Given the description of an element on the screen output the (x, y) to click on. 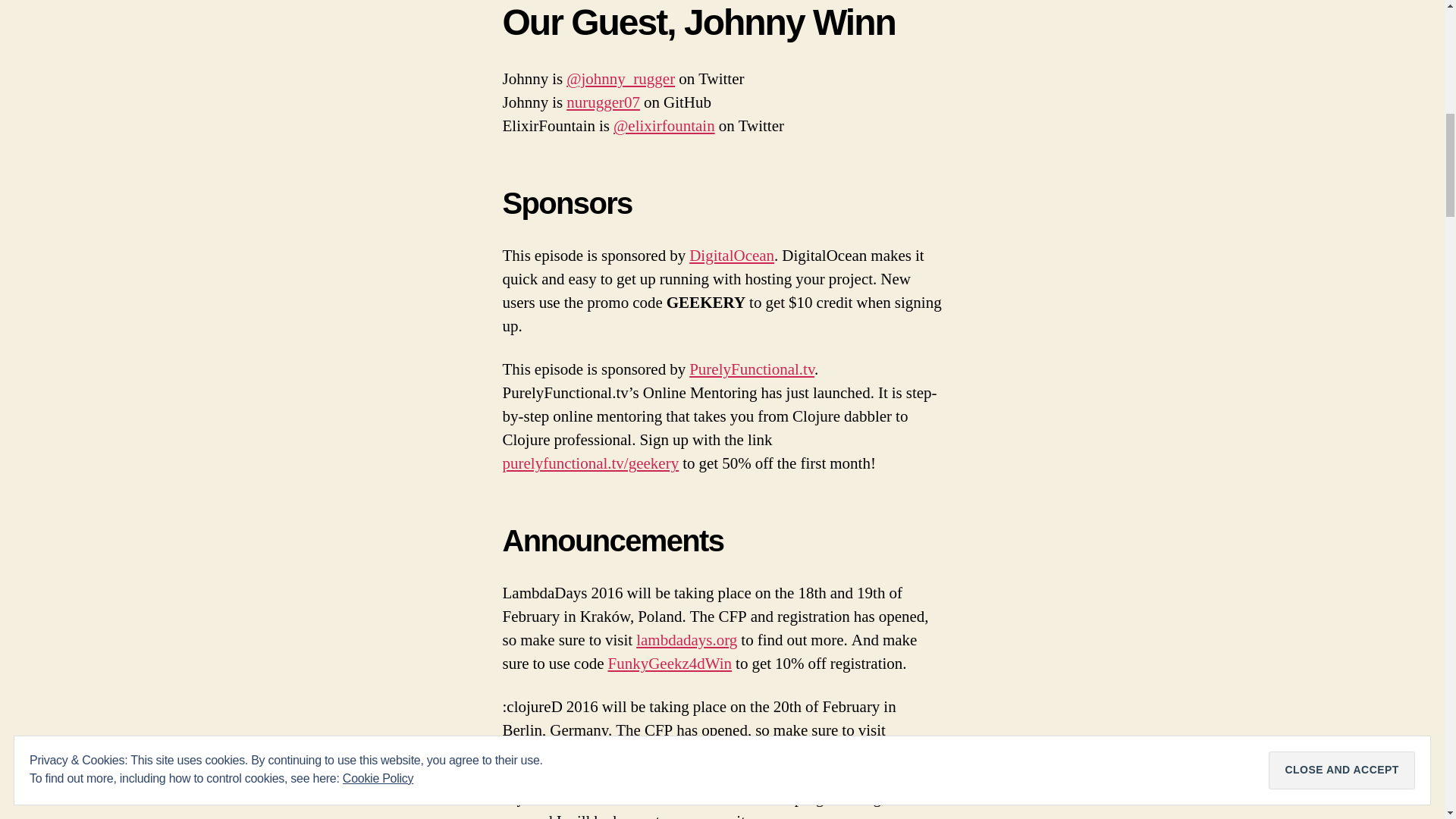
nurugger07 (603, 102)
lambdadays.org (686, 639)
DigitalOcean (731, 255)
FunkyGeekz4dWin (669, 663)
PurelyFunctional.tv (750, 369)
